Given the description of an element on the screen output the (x, y) to click on. 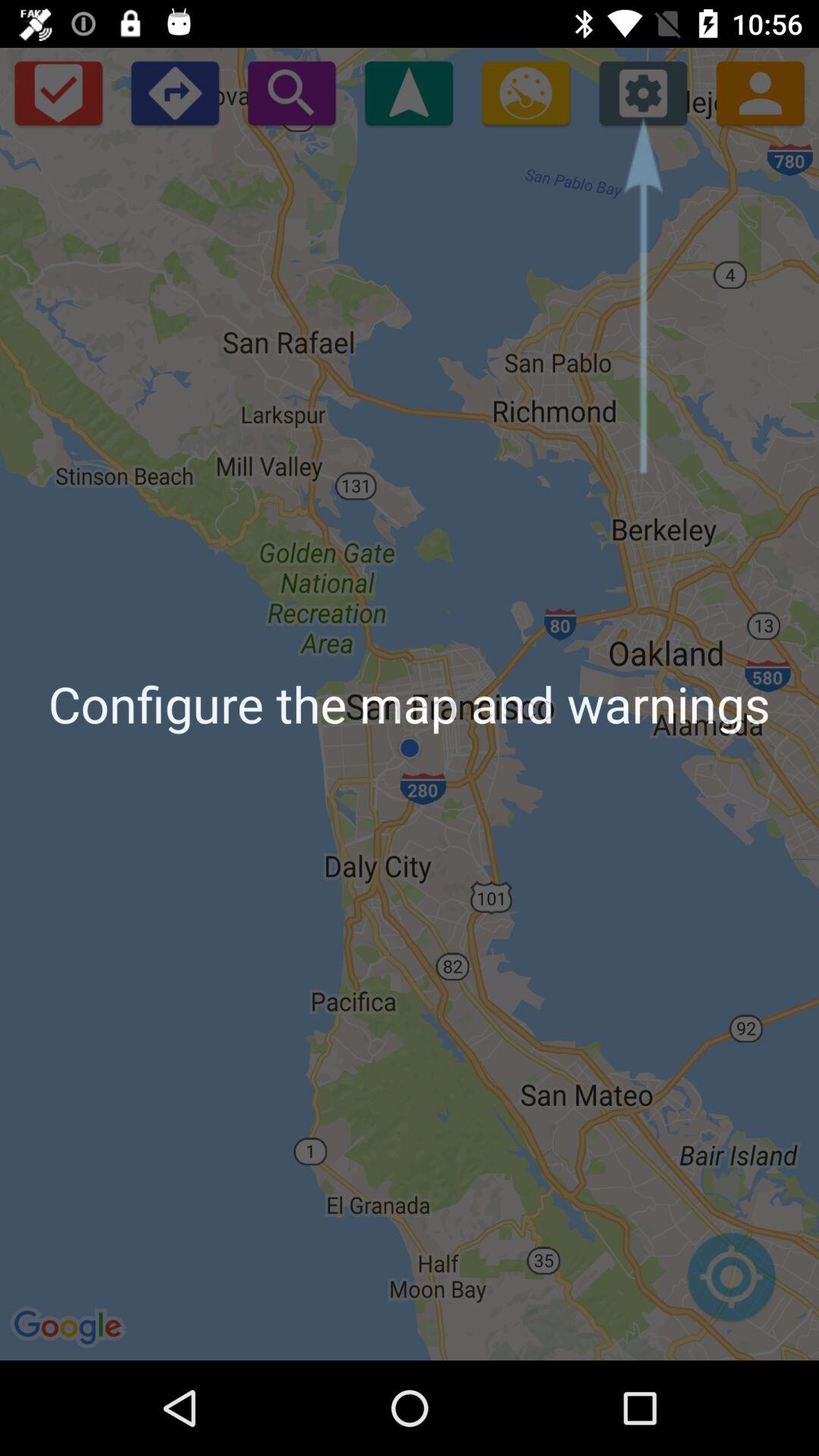
launch icon above configure the map icon (642, 92)
